Given the description of an element on the screen output the (x, y) to click on. 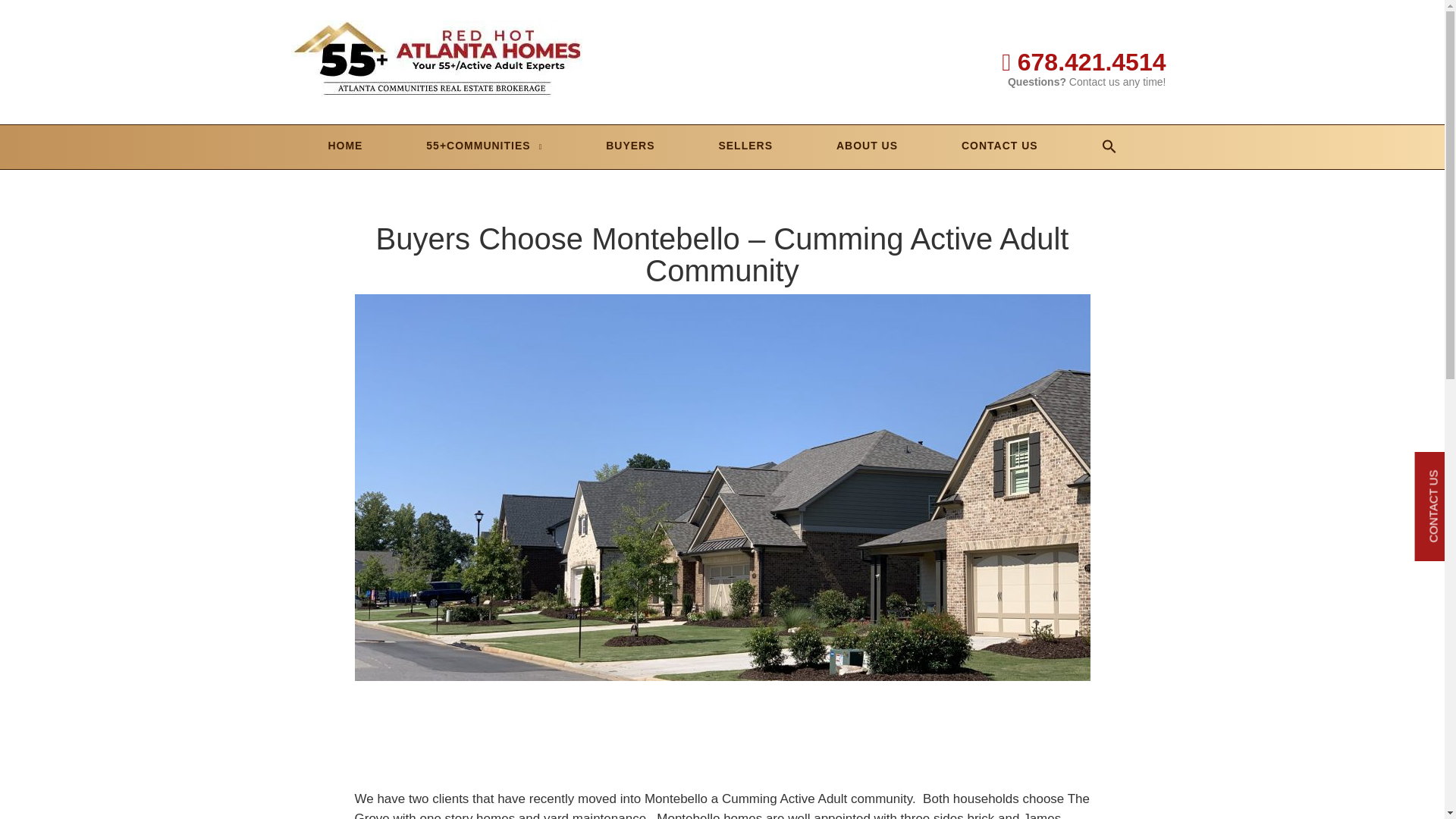
ABOUT US (866, 146)
Send (722, 814)
SELLERS (745, 146)
CONTACT US (999, 146)
BUYERS (629, 146)
